Given the description of an element on the screen output the (x, y) to click on. 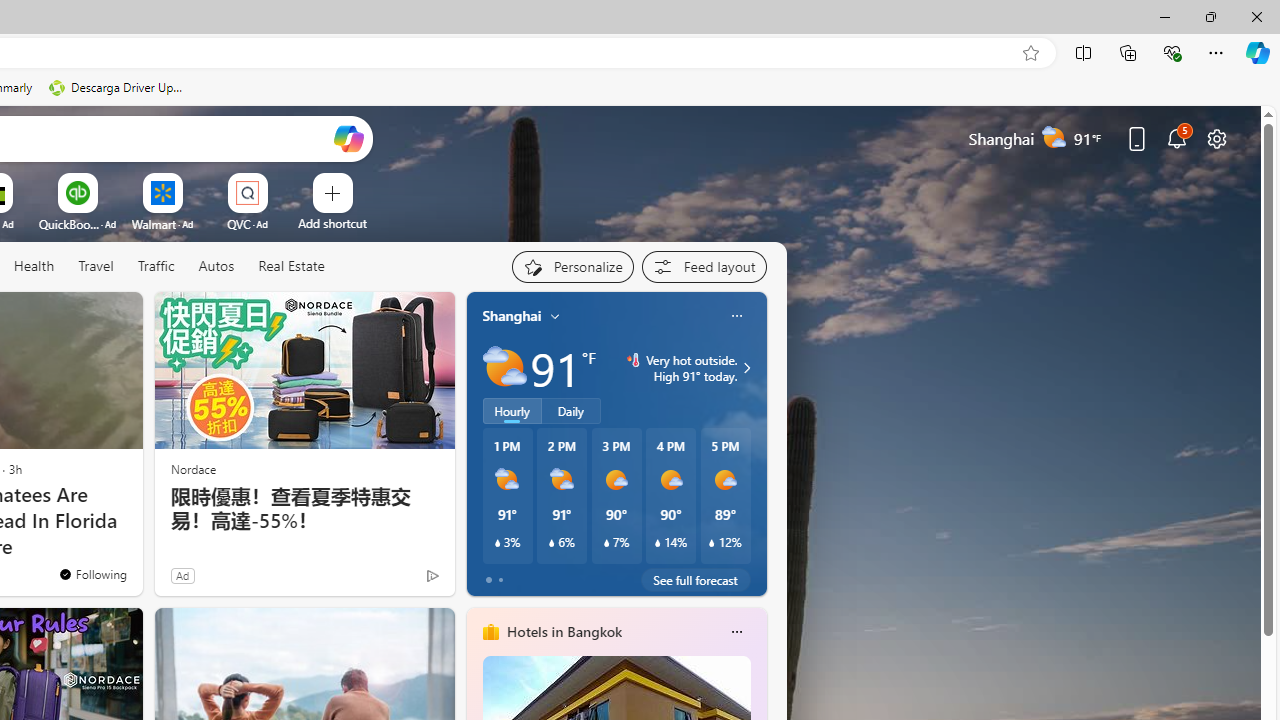
tab-0 (488, 579)
Hourly (511, 411)
tab-1 (500, 579)
Hide this story (82, 315)
